Given the description of an element on the screen output the (x, y) to click on. 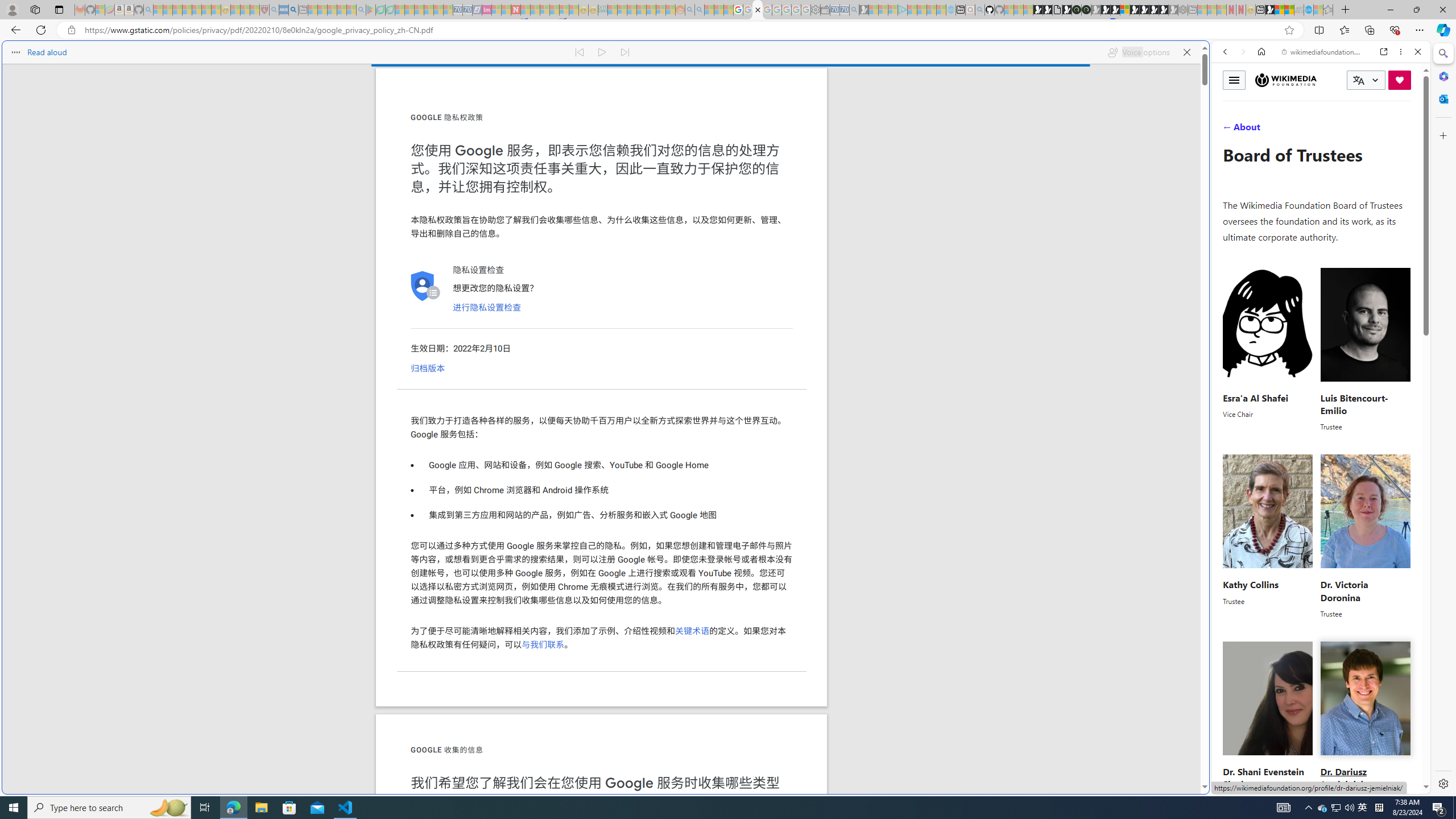
Dr. Dariusz Jemielniak (1343, 777)
